Given the description of an element on the screen output the (x, y) to click on. 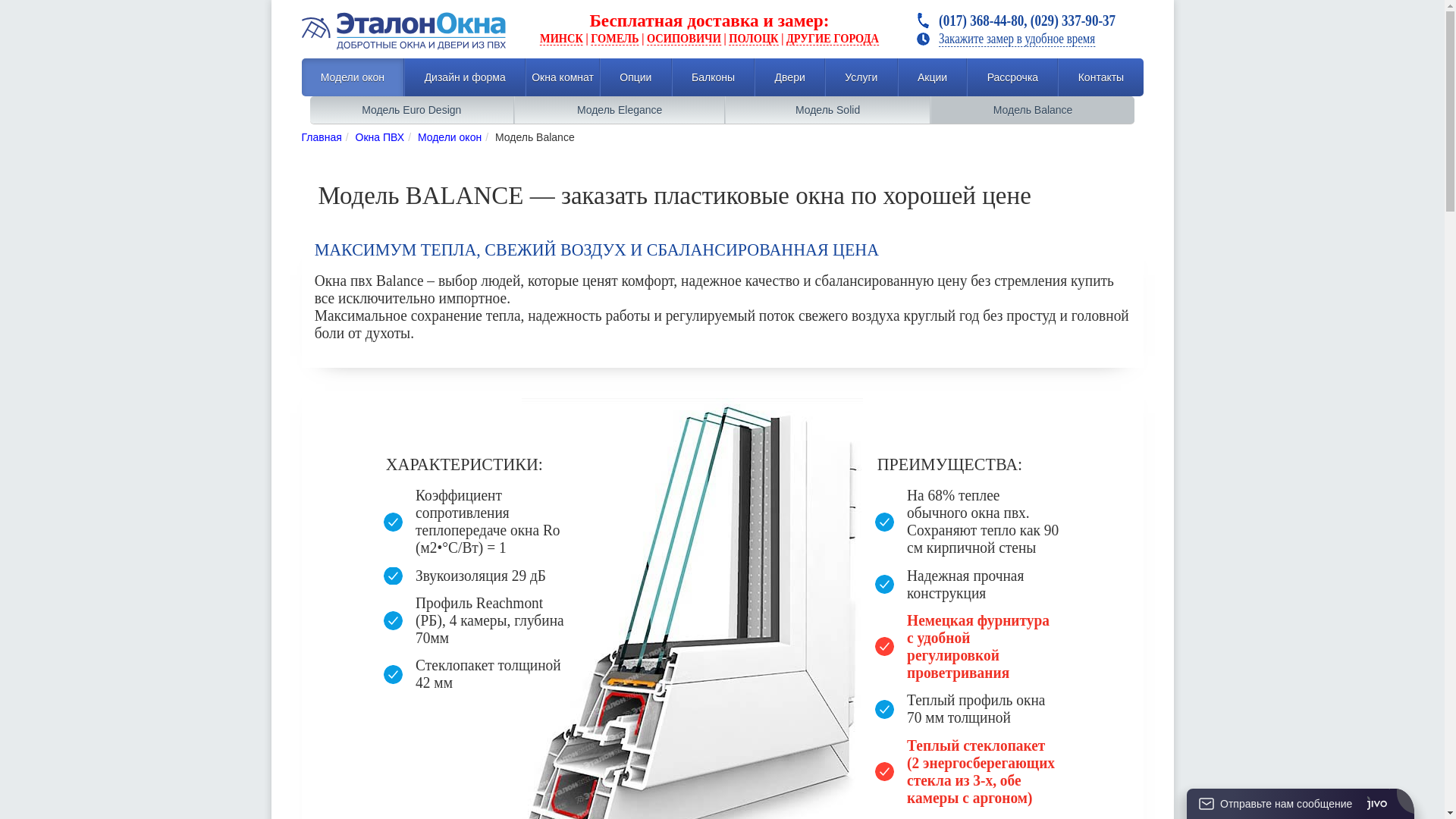
(017) 368-44-80 Element type: text (991, 20)
(029) 337-90-37 Element type: text (1082, 20)
